Given the description of an element on the screen output the (x, y) to click on. 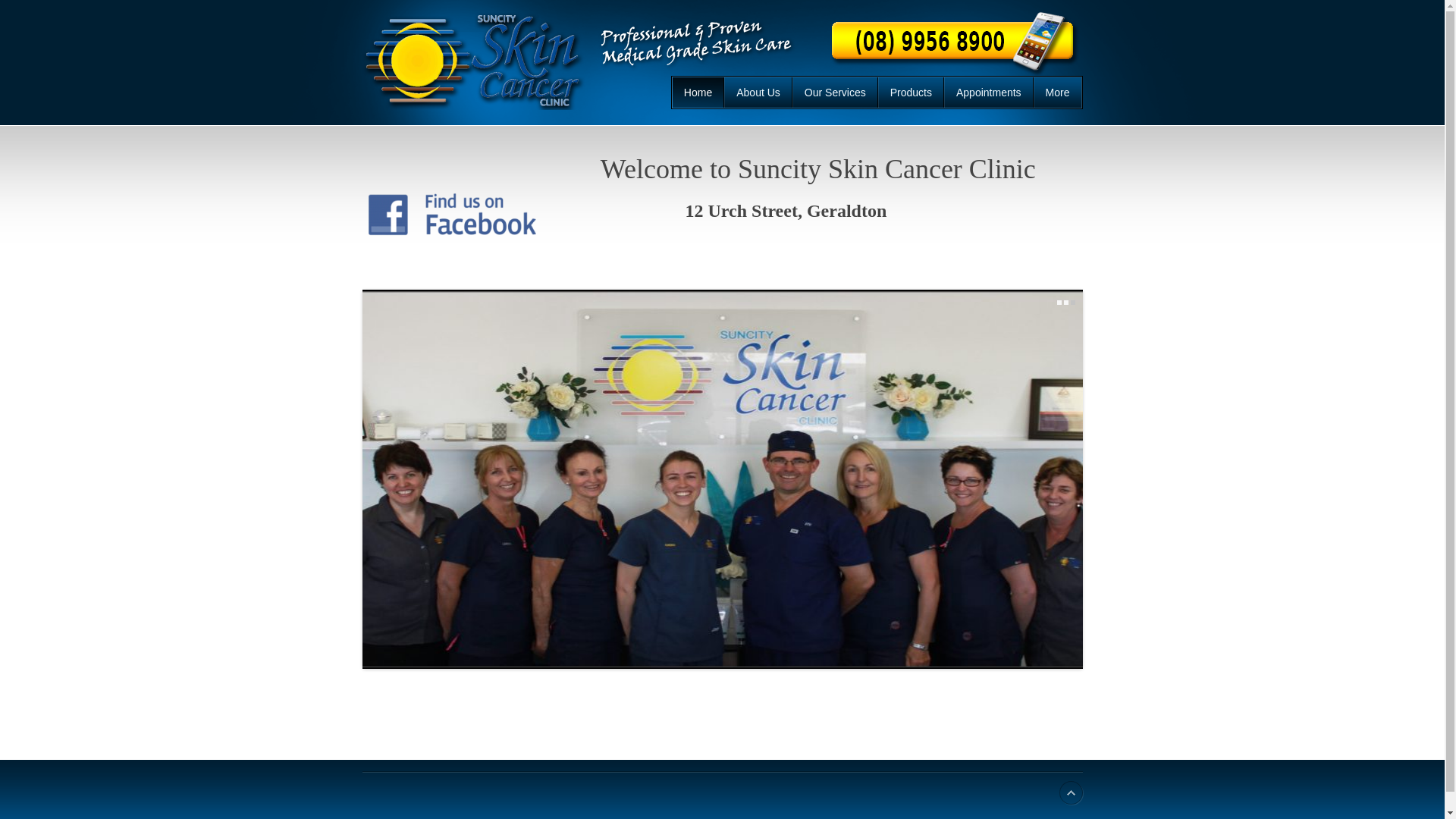
Our Services Element type: text (835, 92)
About Us Element type: text (758, 92)
2 Element type: text (1065, 302)
3 Element type: text (1072, 302)
Appointments Element type: text (988, 92)
More Element type: text (1057, 92)
Home Element type: text (698, 92)
1 Element type: text (1059, 302)
Products Element type: text (911, 92)
